Given the description of an element on the screen output the (x, y) to click on. 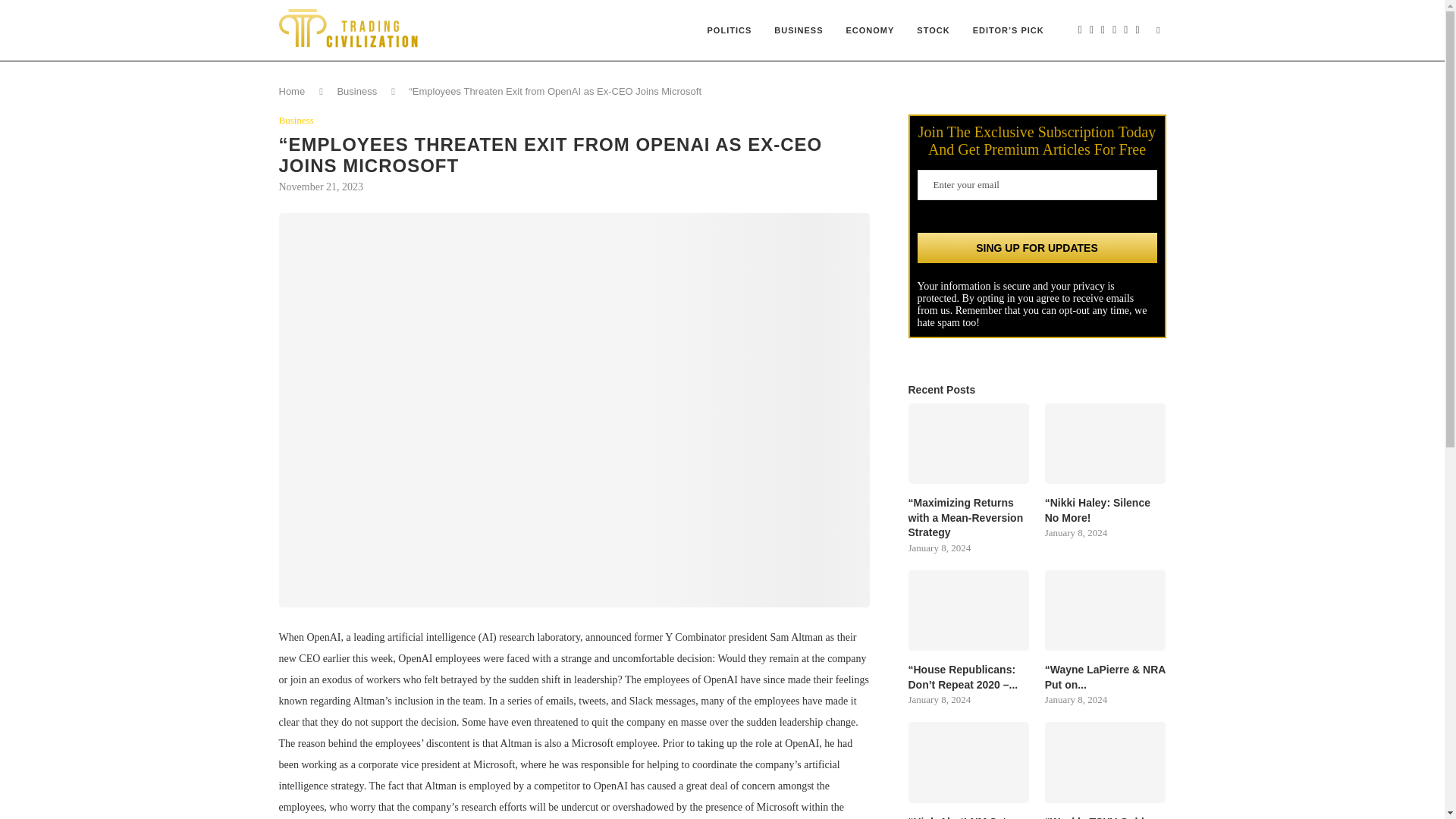
STOCK (932, 30)
Business (356, 91)
POLITICS (728, 30)
BUSINESS (798, 30)
Home (292, 91)
Enter your email (1037, 184)
Business (296, 120)
Sing Up for Updates (1037, 247)
ECONOMY (869, 30)
